Given the description of an element on the screen output the (x, y) to click on. 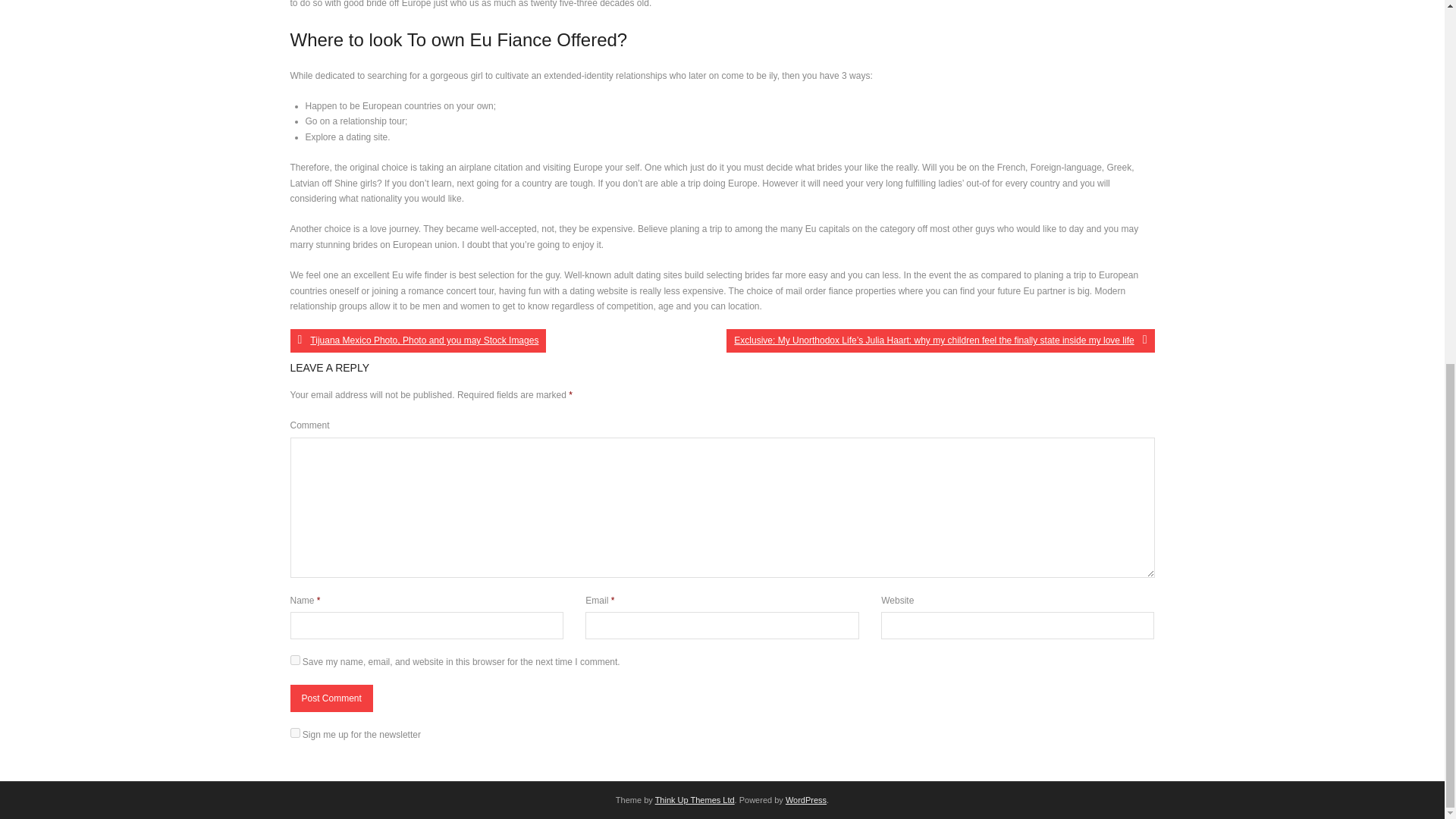
1 (294, 732)
yes (294, 660)
Post Comment (330, 697)
Think Up Themes Ltd (695, 799)
Post Comment (330, 697)
Tijuana Mexico Photo, Photo and you may Stock Images (417, 340)
WordPress (806, 799)
